Given the description of an element on the screen output the (x, y) to click on. 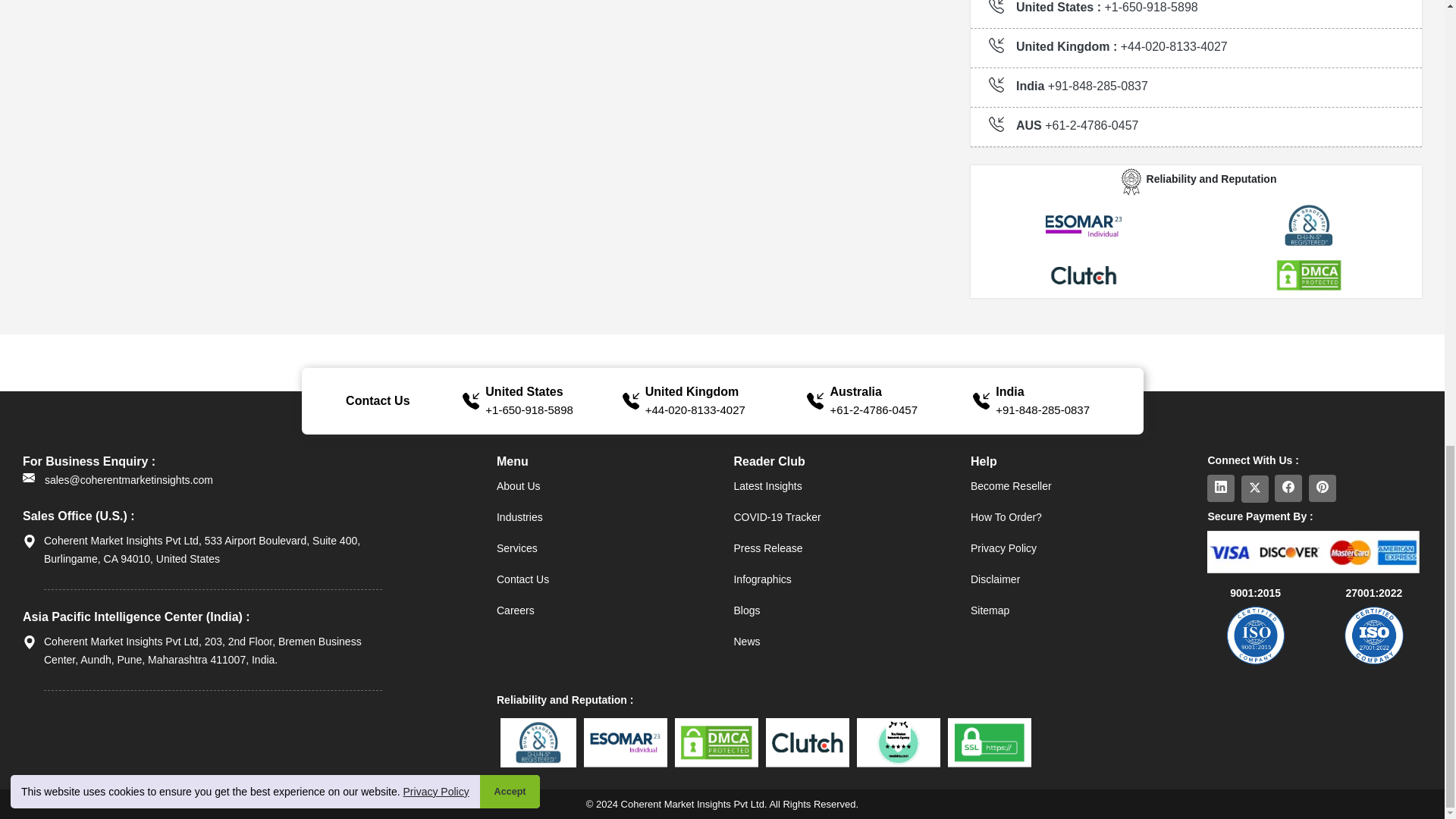
DUNS Registered (1308, 225)
Call Us (1042, 409)
Industries (603, 516)
Services (603, 548)
Call Us (695, 409)
Email Us (117, 478)
DMCA Protected (1308, 275)
Contact Us (603, 578)
About Us (603, 486)
Logo (1131, 182)
